Given the description of an element on the screen output the (x, y) to click on. 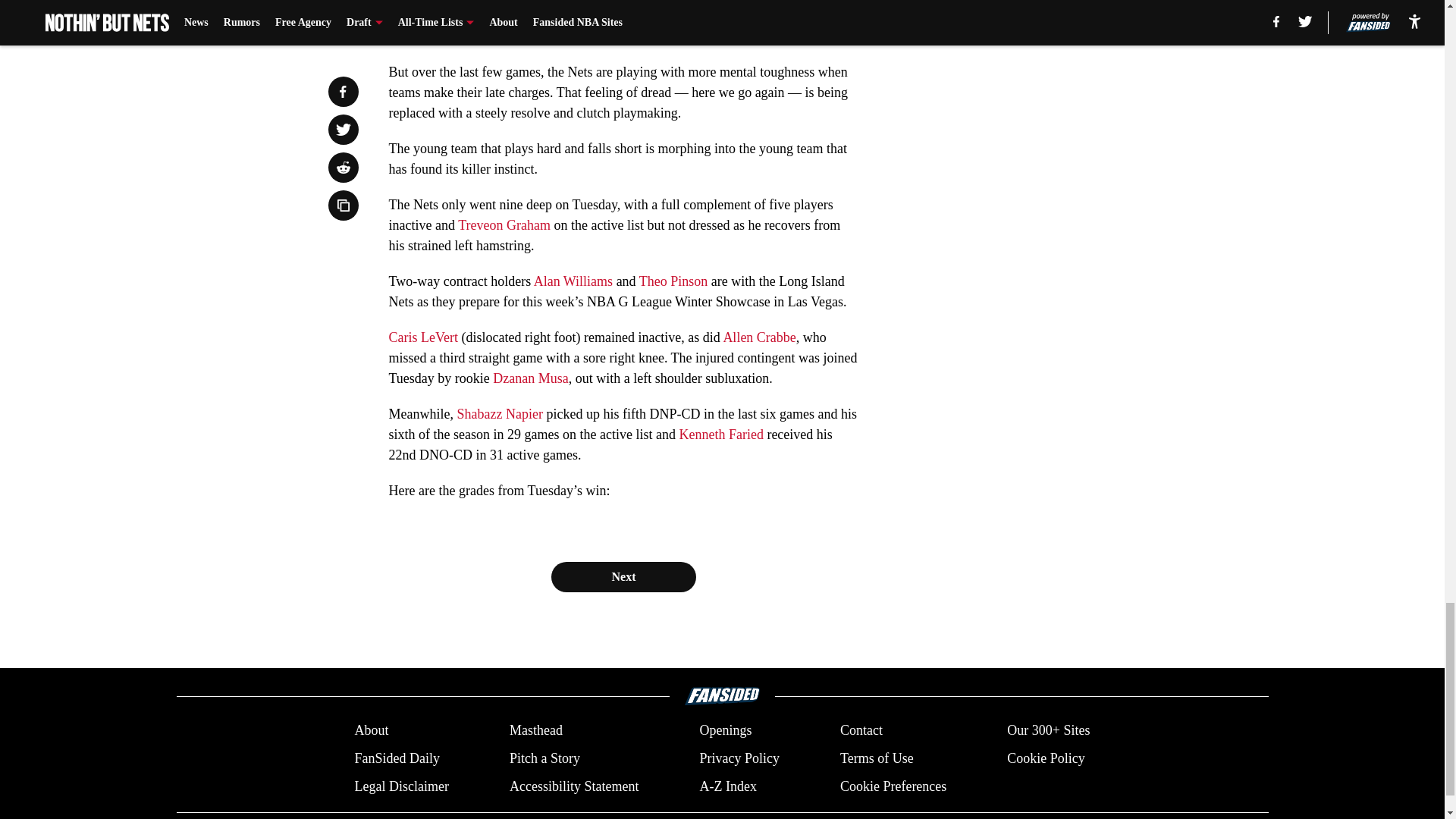
Theo Pinson (673, 281)
Alan Williams (573, 281)
Shabazz Napier (499, 413)
Dzanan Musa (530, 378)
Kenneth Faried (720, 434)
Caris LeVert (422, 337)
Treveon Graham (504, 224)
Allen Crabbe (758, 337)
